Given the description of an element on the screen output the (x, y) to click on. 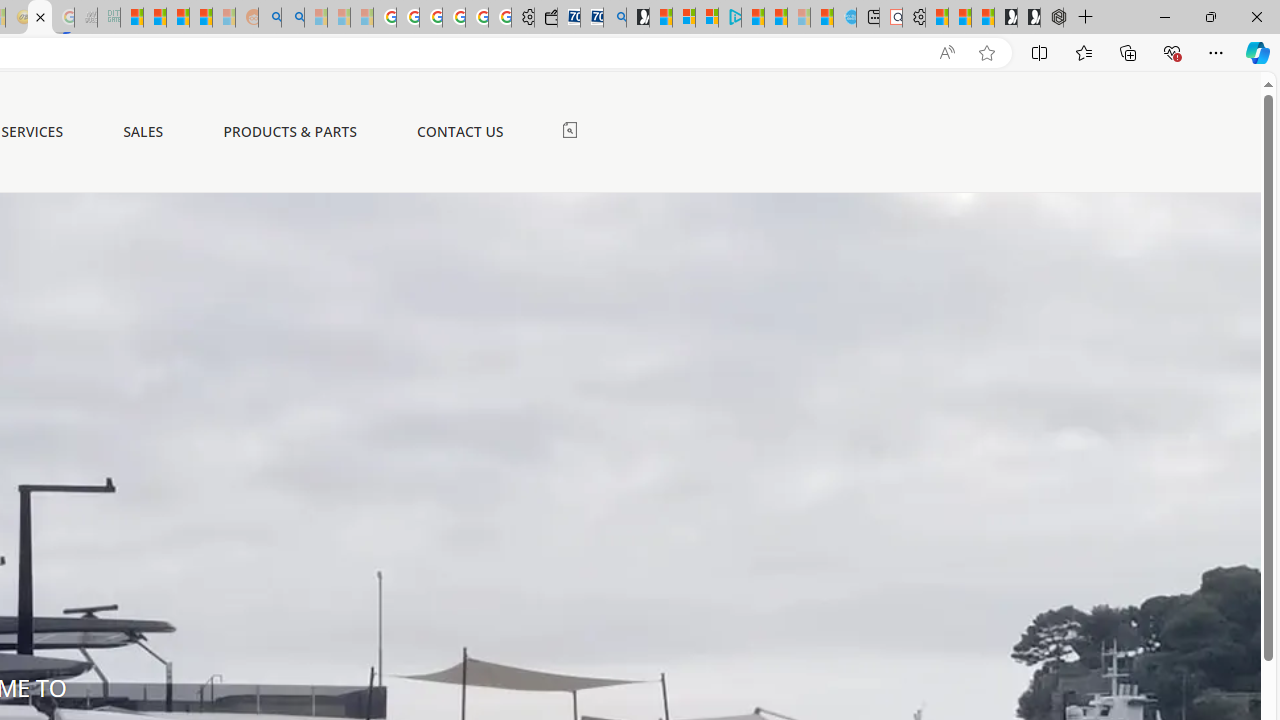
Student Loan Update: Forgiveness Program Ends This Month (200, 17)
PRODUCTS & PARTS (289, 132)
PRODUCTS & PARTS (289, 131)
